Given the description of an element on the screen output the (x, y) to click on. 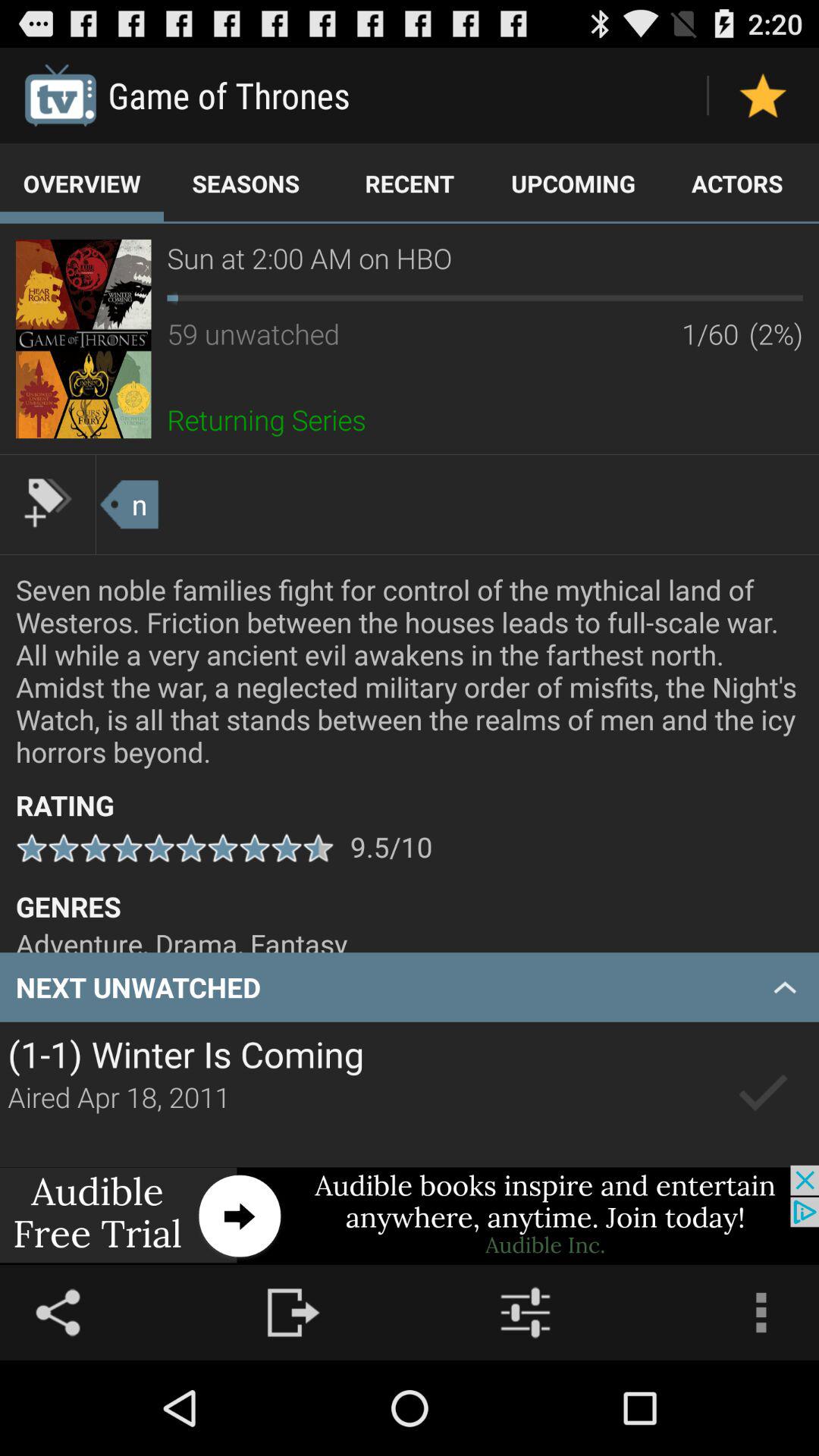
go to previous (763, 1093)
